Given the description of an element on the screen output the (x, y) to click on. 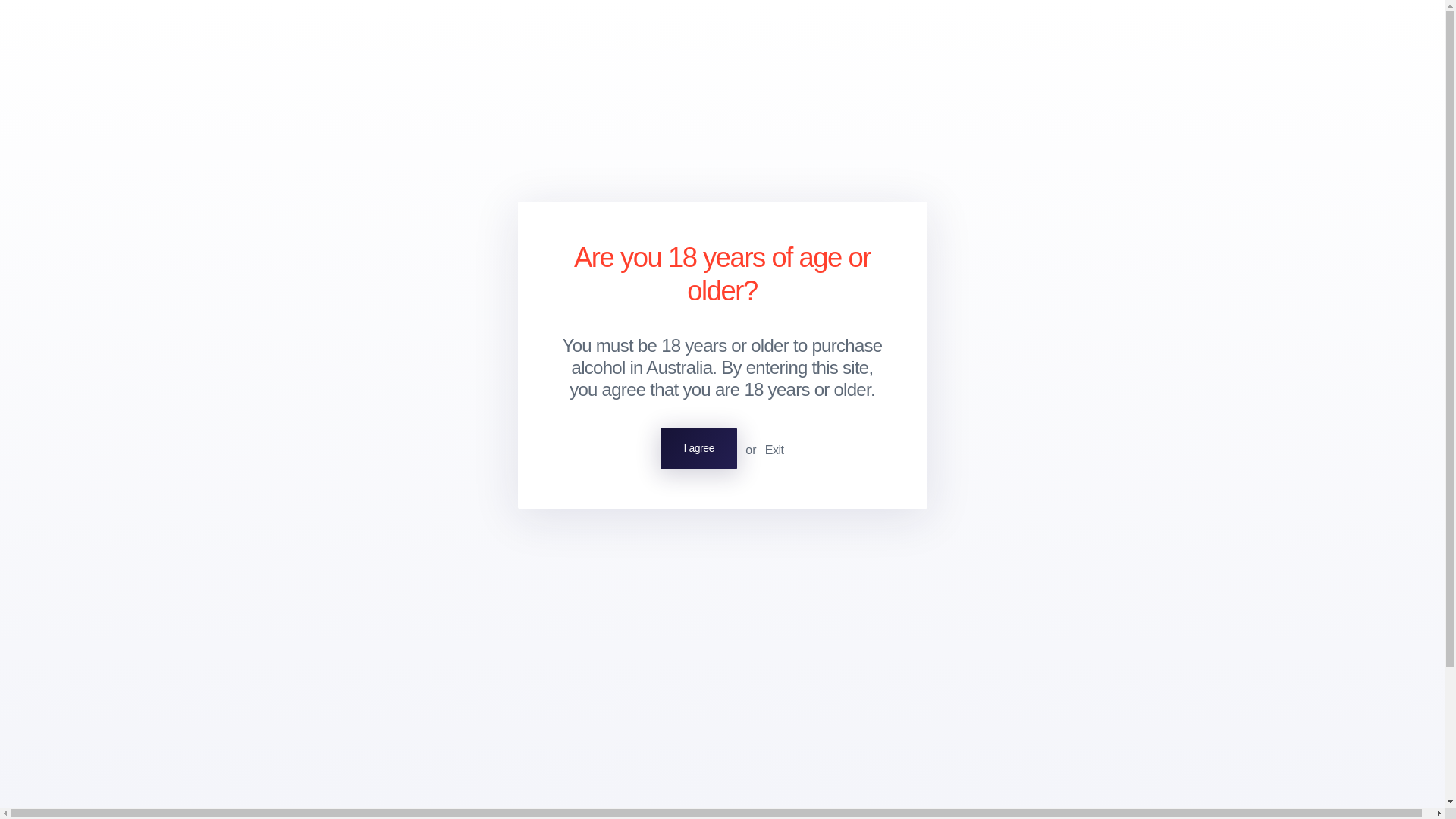
Home (273, 111)
Producers (111, 32)
Tasting notes (369, 347)
1 (316, 469)
Sold out (472, 469)
Wholesale (177, 32)
- (274, 469)
Search (1367, 33)
Wine details (289, 347)
I agree (698, 448)
About (232, 32)
HOME (273, 111)
Exit (774, 450)
